Given the description of an element on the screen output the (x, y) to click on. 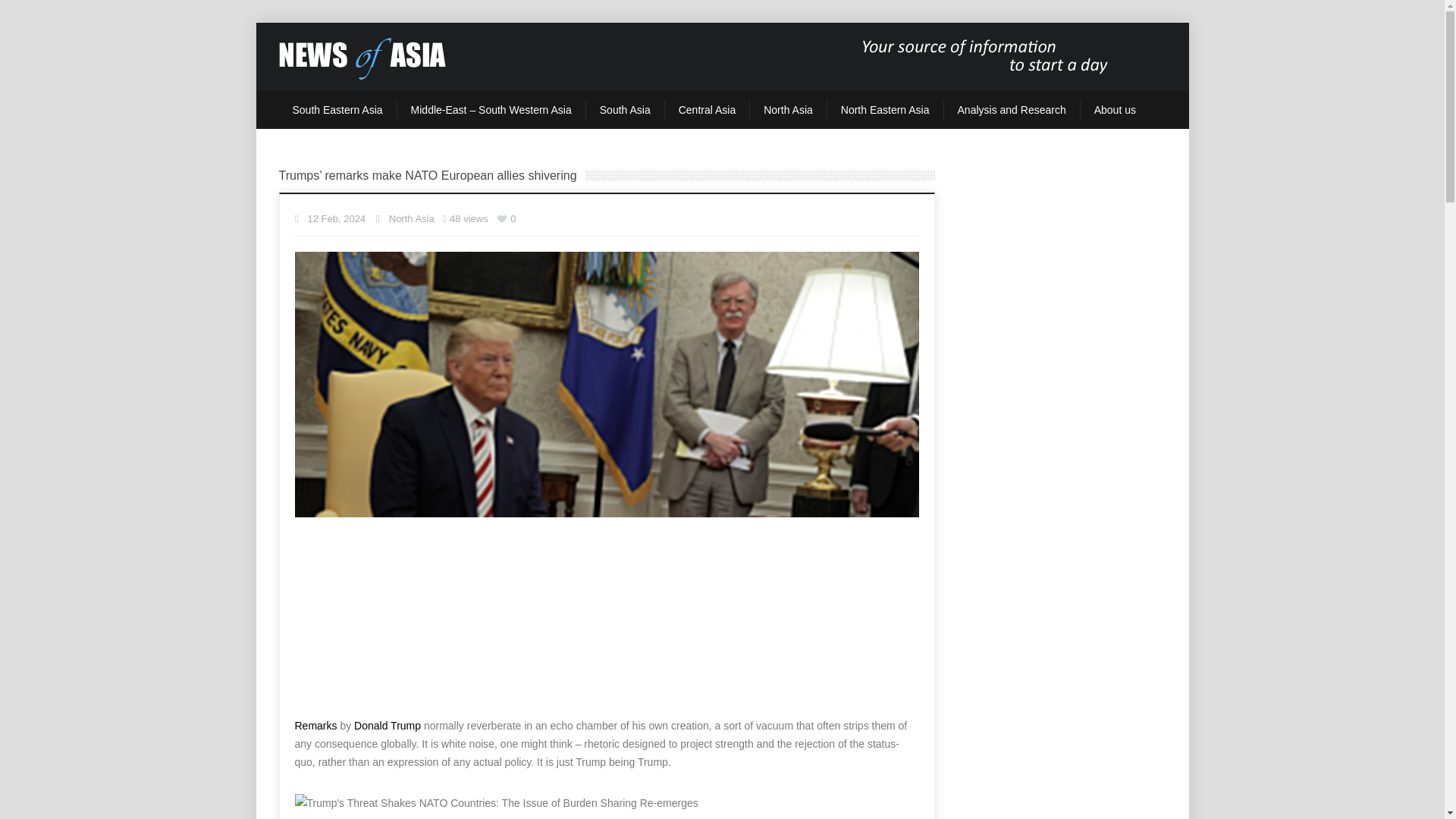
North Asia (788, 109)
South Eastern Asia (337, 109)
Your source of information to start a day (362, 56)
South Asia (625, 109)
Central Asia (706, 109)
